Given the description of an element on the screen output the (x, y) to click on. 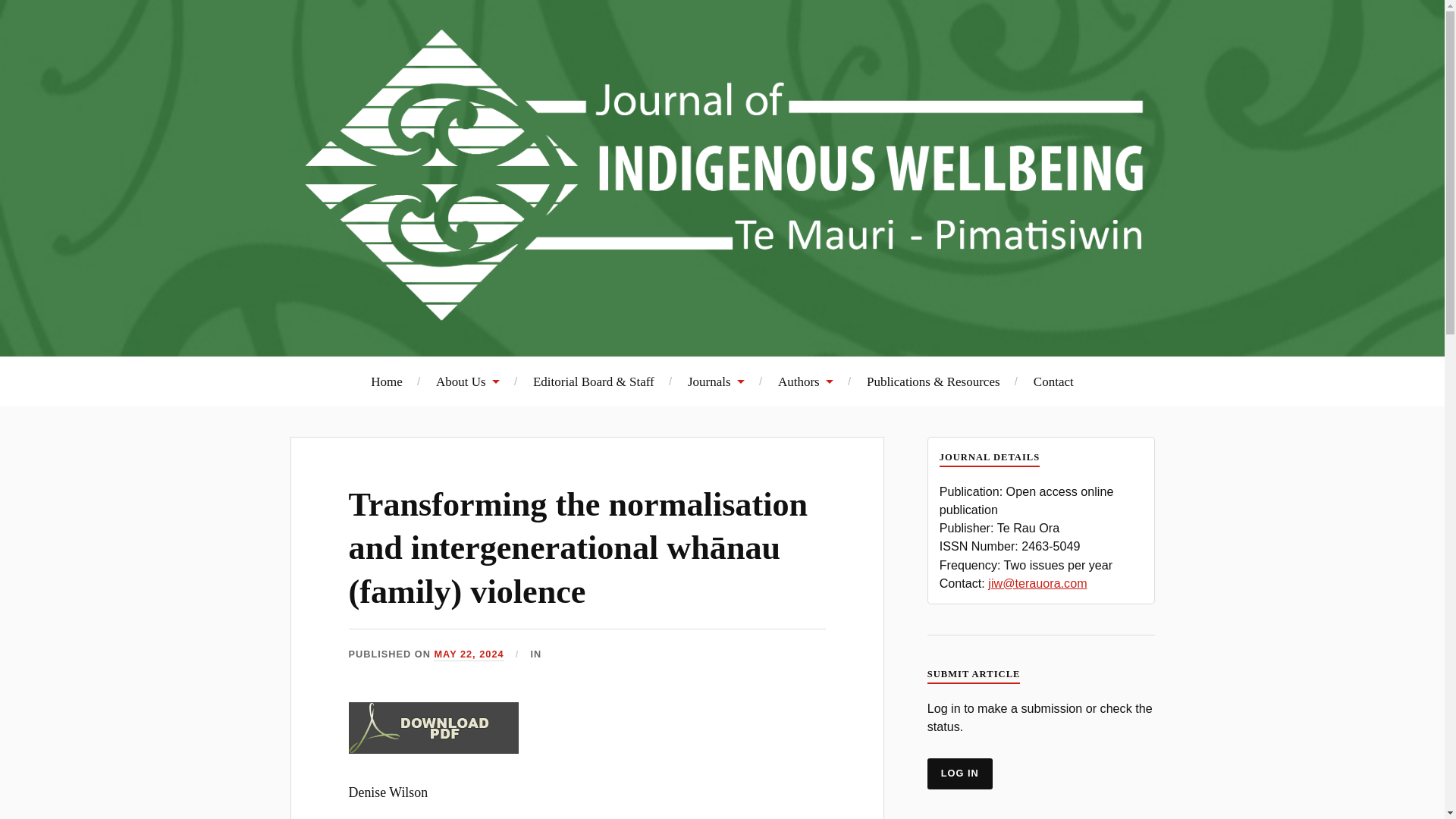
MAY 22, 2024 (468, 654)
Authors (804, 381)
Journals (715, 381)
About Us (467, 381)
